Given the description of an element on the screen output the (x, y) to click on. 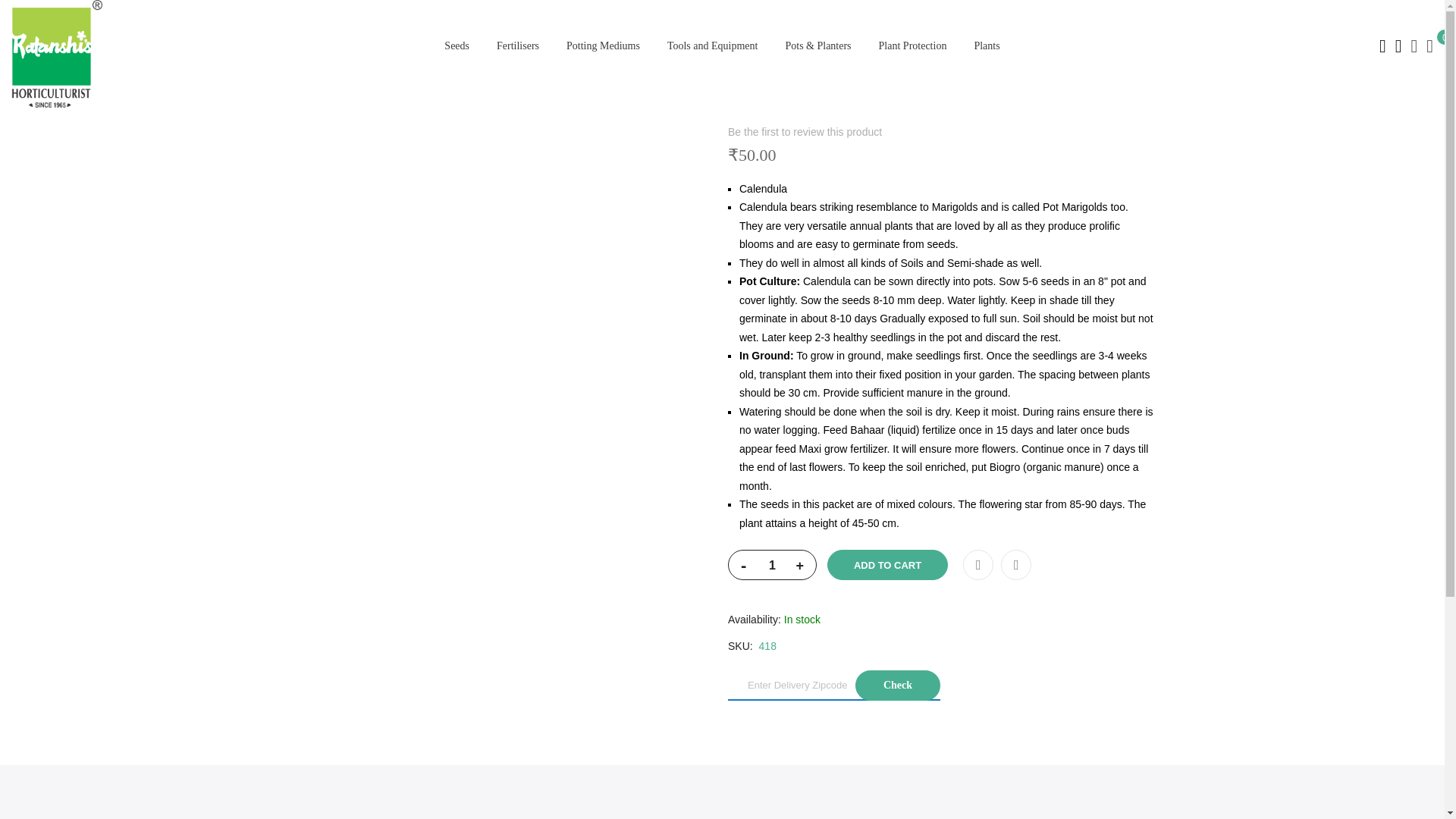
Potting Mediums (603, 46)
Add to Compare (1015, 564)
Add to Wish List (977, 564)
Fertilisers (518, 46)
Go to Home Page (292, 21)
Zipcode (834, 685)
Add To Cart (887, 564)
Availability (941, 619)
1 (772, 565)
Check (898, 685)
